Given the description of an element on the screen output the (x, y) to click on. 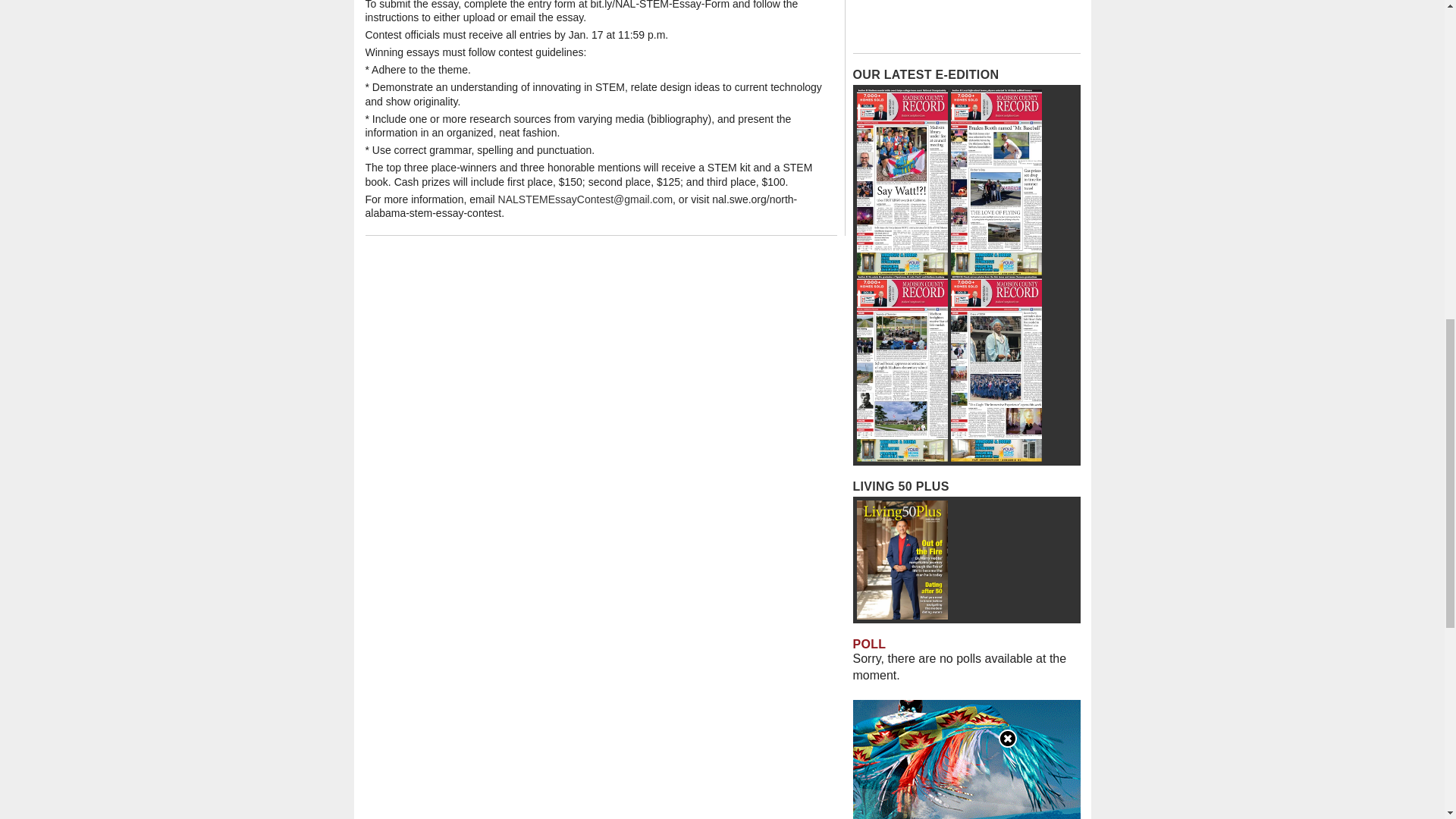
OUR LATEST E-EDITION (924, 74)
3rd party ad content (965, 22)
